Given the description of an element on the screen output the (x, y) to click on. 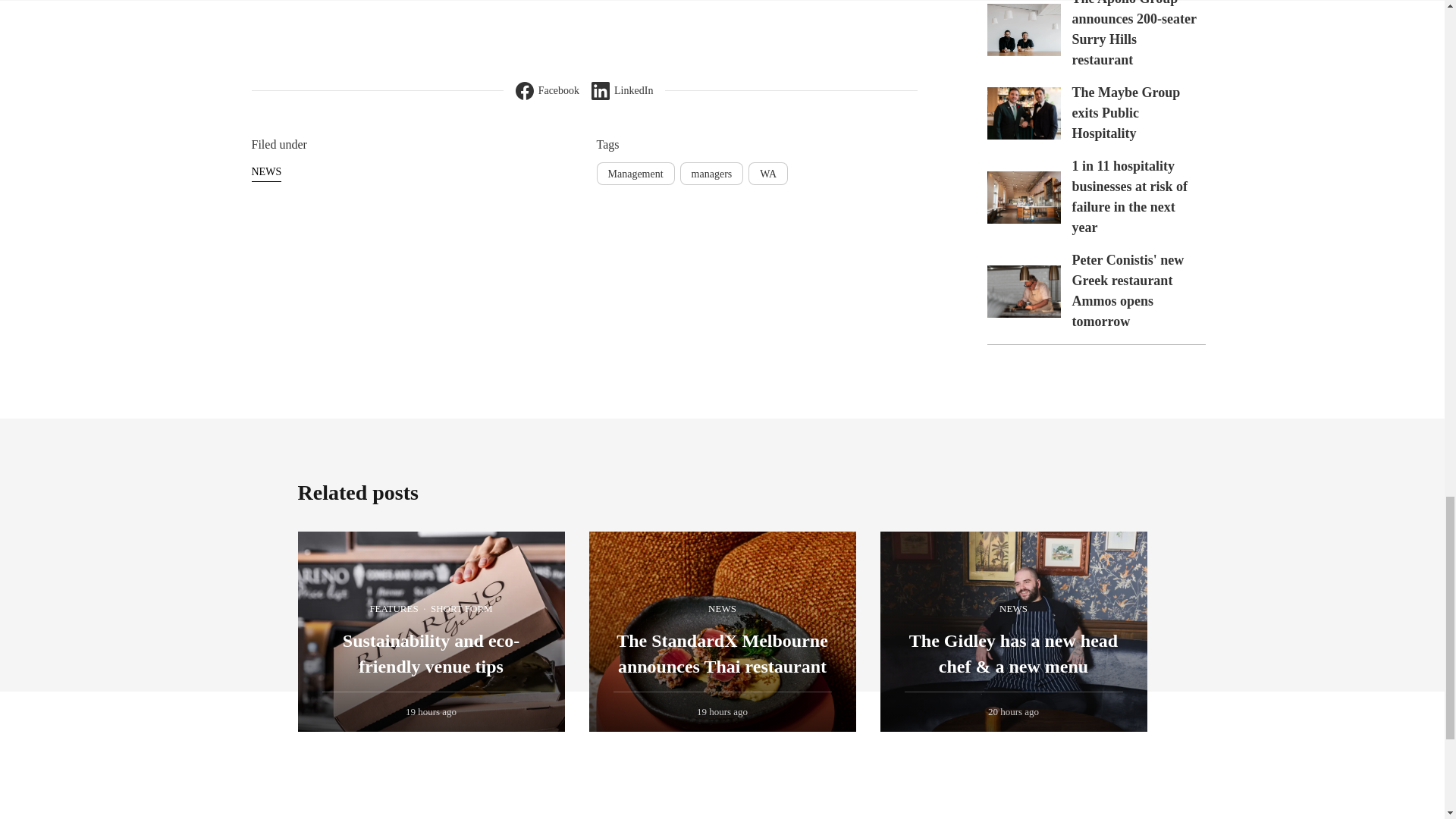
The Maybe Group exits Public Hospitality (1125, 112)
The Apollo Group announces 200-seater Surry Hills restaurant (1133, 33)
The Maybe Group exits Public Hospitality (1024, 112)
LinkedIn (621, 90)
Management (634, 173)
View all posts in Short Form (461, 609)
WA (767, 173)
View all posts in Features (394, 609)
Peter Conistis' new Greek restaurant Ammos opens tomorrow (1024, 291)
NEWS (266, 171)
managers (711, 173)
Peter Conistis' new Greek restaurant Ammos opens tomorrow (1128, 290)
Facebook (547, 90)
